Given the description of an element on the screen output the (x, y) to click on. 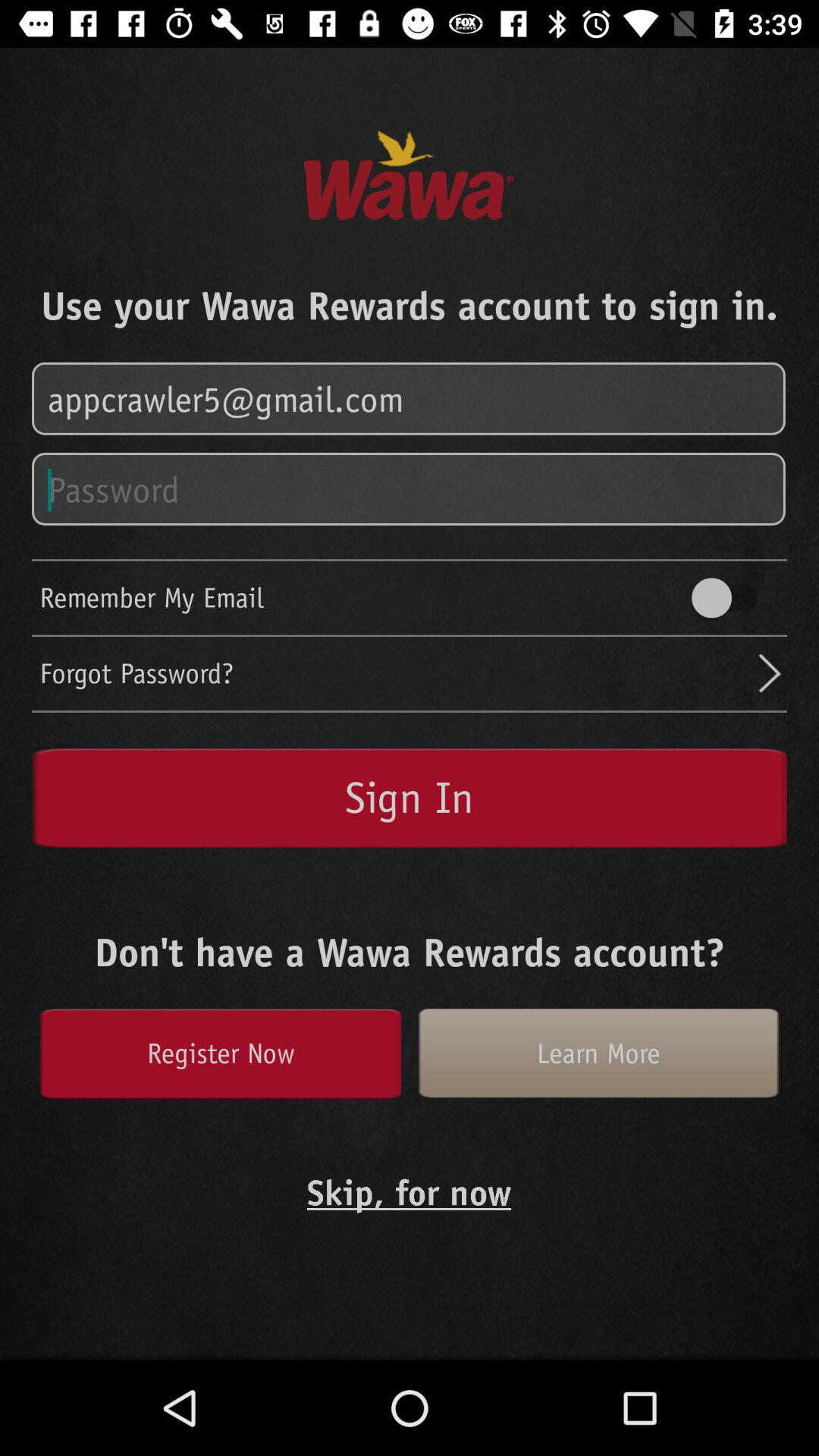
choose the item to the right of the register now (598, 1053)
